Given the description of an element on the screen output the (x, y) to click on. 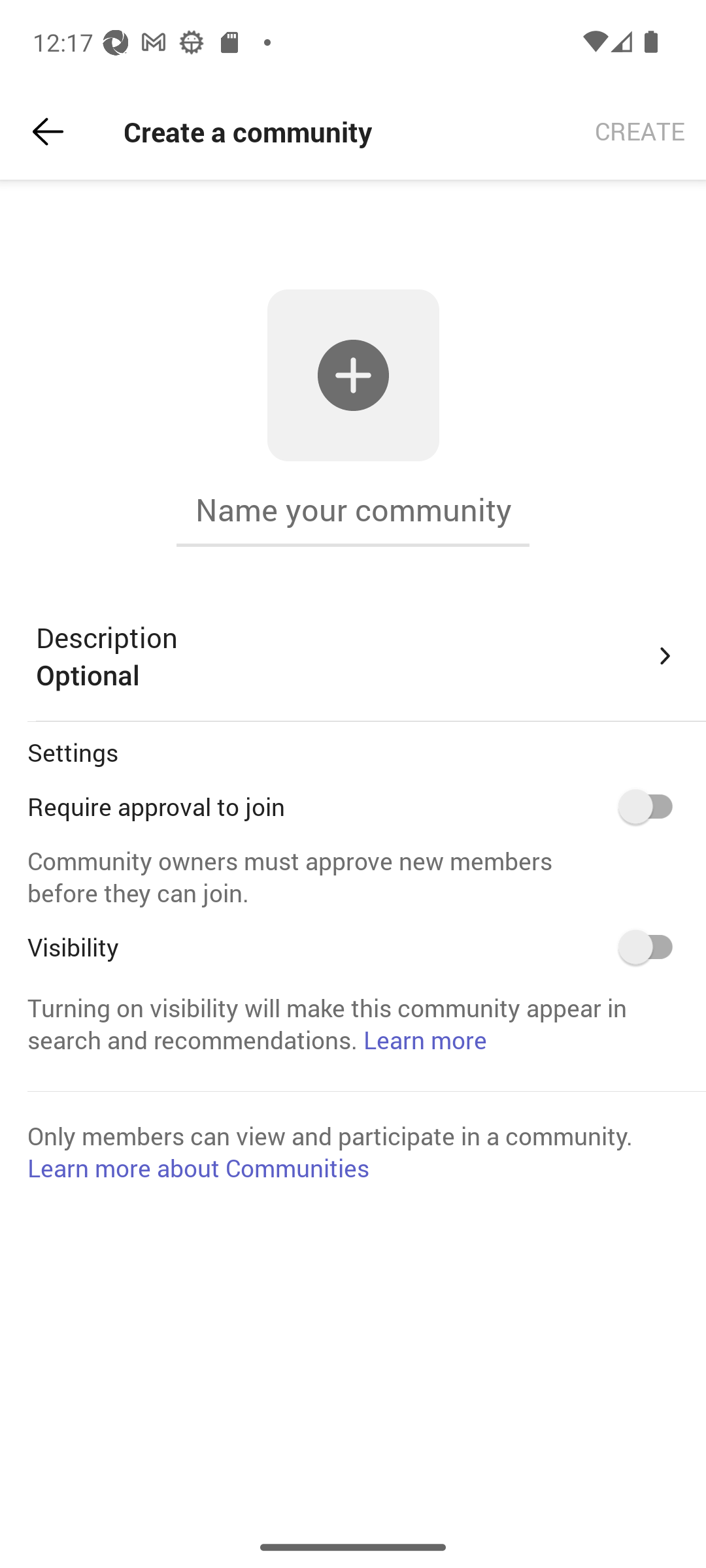
Back (48, 131)
CREATE (639, 131)
Add community image (353, 375)
Name your community (352, 509)
Description Optional (357, 656)
Require approval to join (652, 806)
Visibility (652, 946)
